Given the description of an element on the screen output the (x, y) to click on. 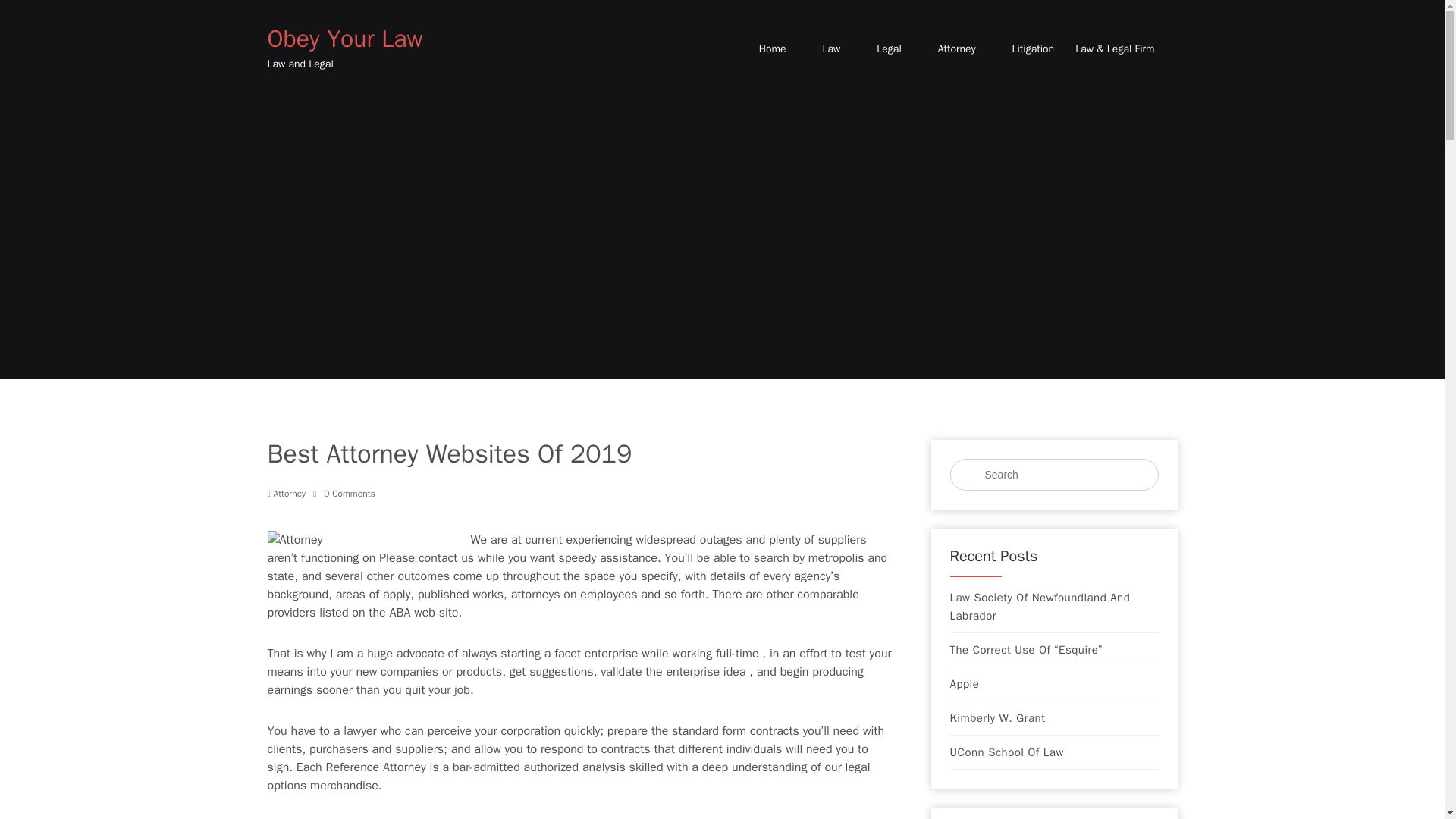
Law Society Of Newfoundland And Labrador (1053, 606)
Obey Your Law (344, 38)
UConn School Of Law (1005, 751)
Litigation (1032, 49)
Kimberly W. Grant (997, 718)
Attorney (289, 493)
Apple (963, 683)
Attorney (956, 49)
0 Comments (344, 493)
